Given the description of an element on the screen output the (x, y) to click on. 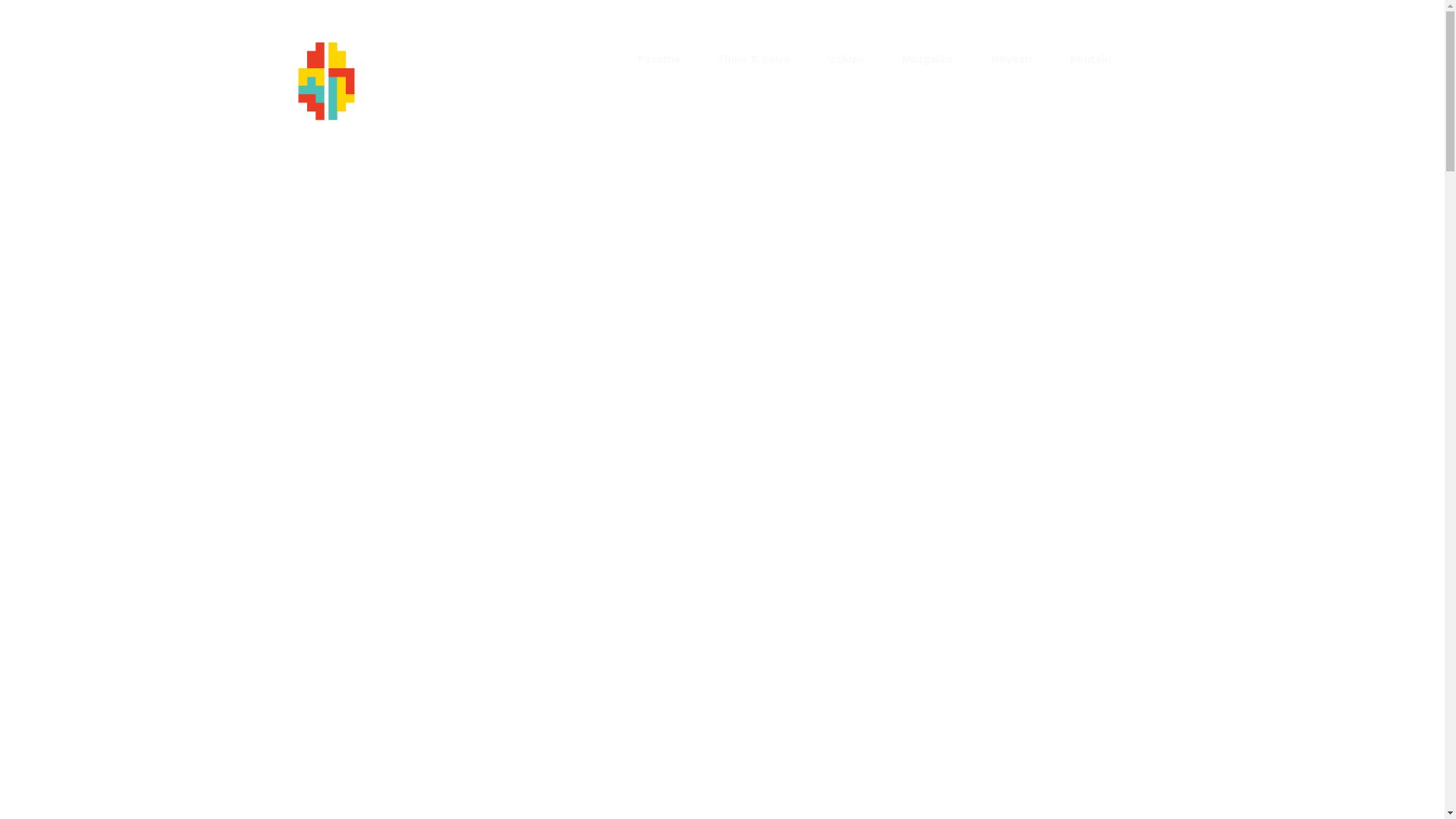
Mozgalice Element type: text (927, 58)
Think & Solve Element type: text (753, 58)
Kontakt Element type: text (1090, 58)
Novosti Element type: text (1011, 58)
Mozgaonica Element type: hover (427, 111)
Usluge Element type: text (845, 58)
